Given the description of an element on the screen output the (x, y) to click on. 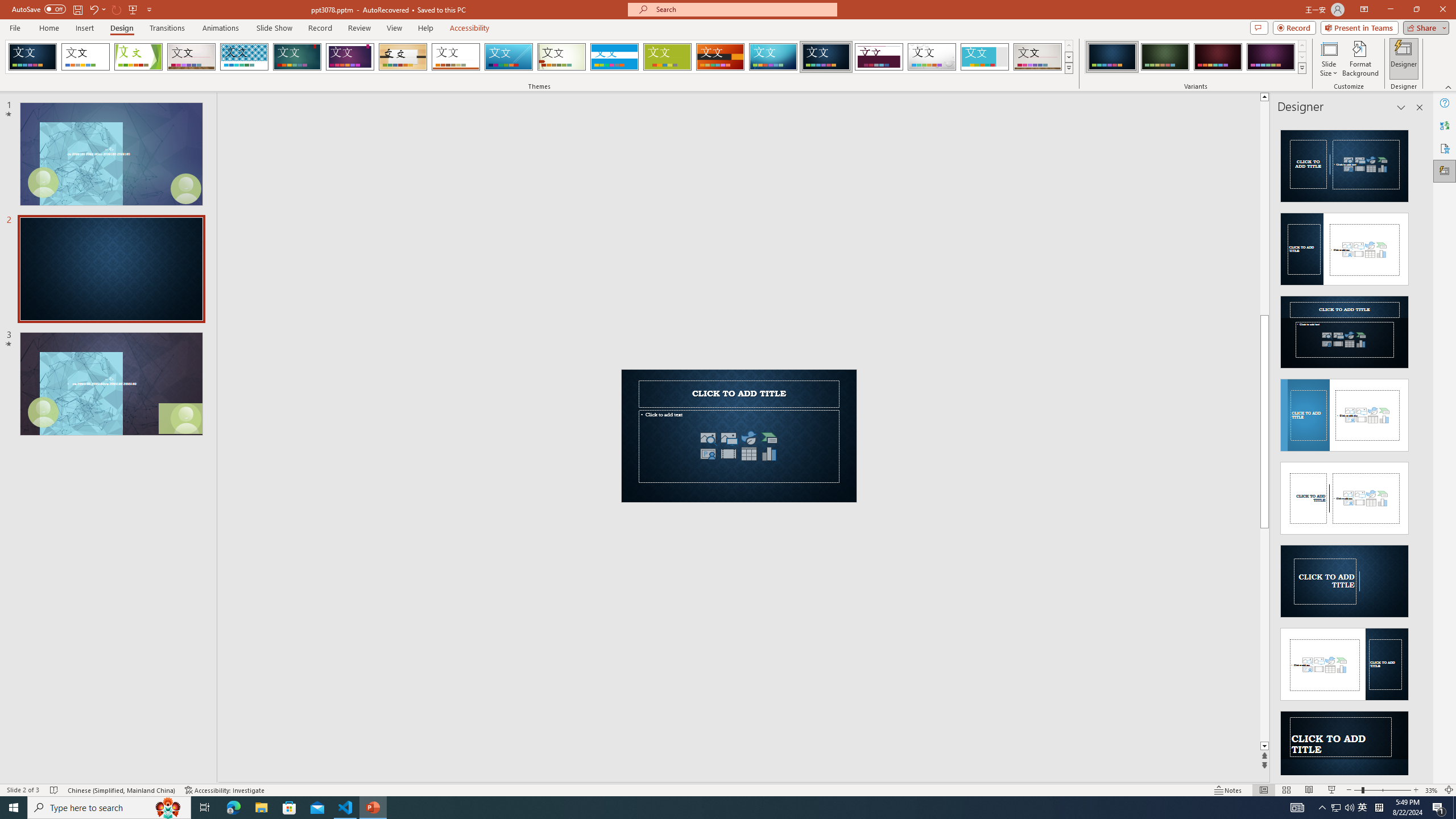
Themes (1068, 67)
Insert Cameo (707, 453)
Recommended Design: Design Idea (1344, 162)
Zoom 33% (1431, 790)
Damask Variant 4 (1270, 56)
Wisp (561, 56)
Organic (403, 56)
AutomationID: ThemeVariantsGallery (1195, 56)
